Given the description of an element on the screen output the (x, y) to click on. 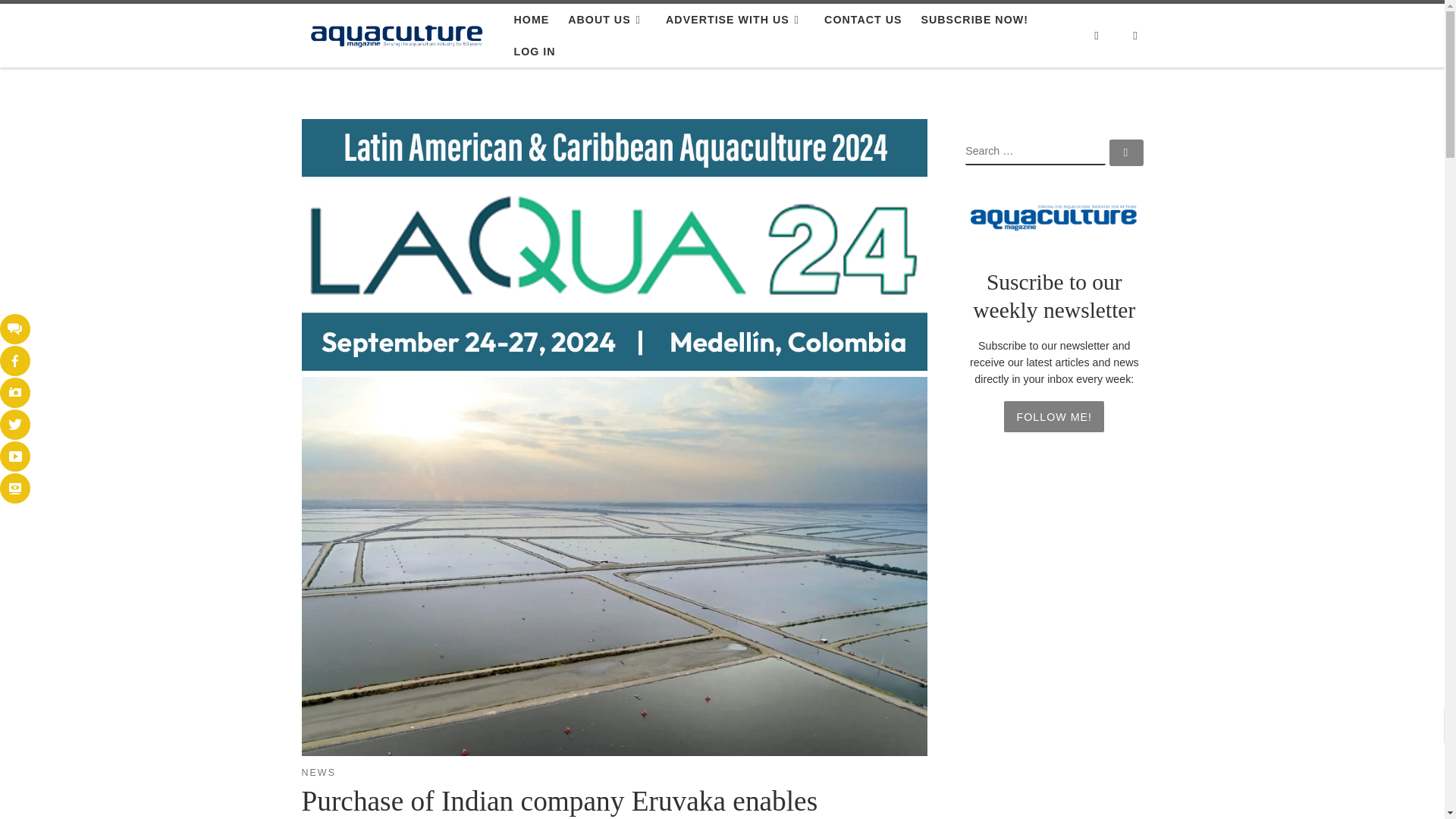
ADVERTISE WITH US (735, 20)
HOME (530, 20)
View your shopping cart (1135, 35)
Follow me! (1053, 416)
ABOUT US (606, 20)
SUBSCRIBE NOW! (973, 20)
LOG IN (534, 51)
Search (1096, 35)
CONTACT US (863, 20)
Saltar al contenido (70, 20)
